Given the description of an element on the screen output the (x, y) to click on. 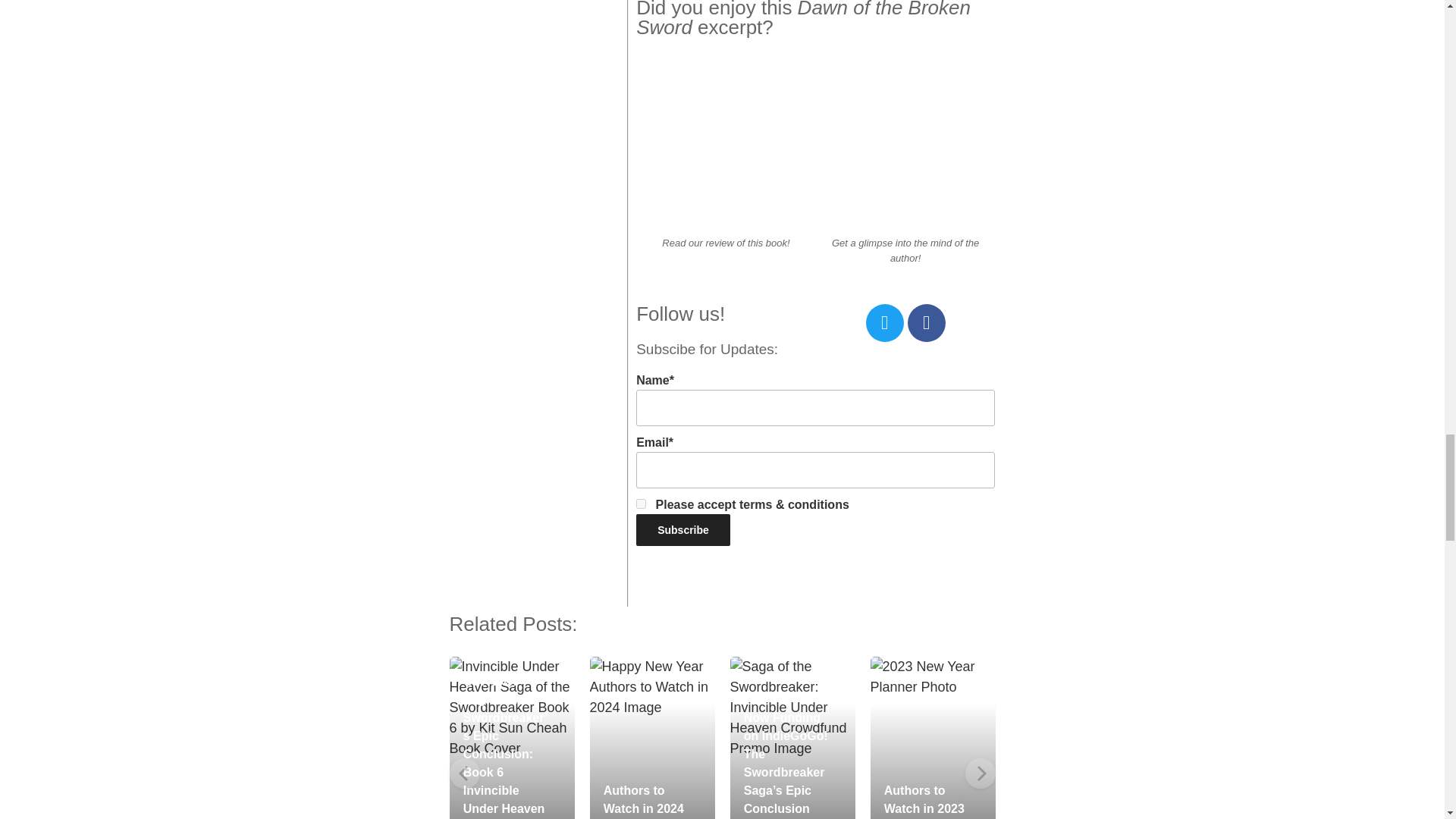
Subscribe (683, 530)
true (641, 503)
Subscribe (683, 530)
Authors to Watch in 2024 (644, 798)
